Given the description of an element on the screen output the (x, y) to click on. 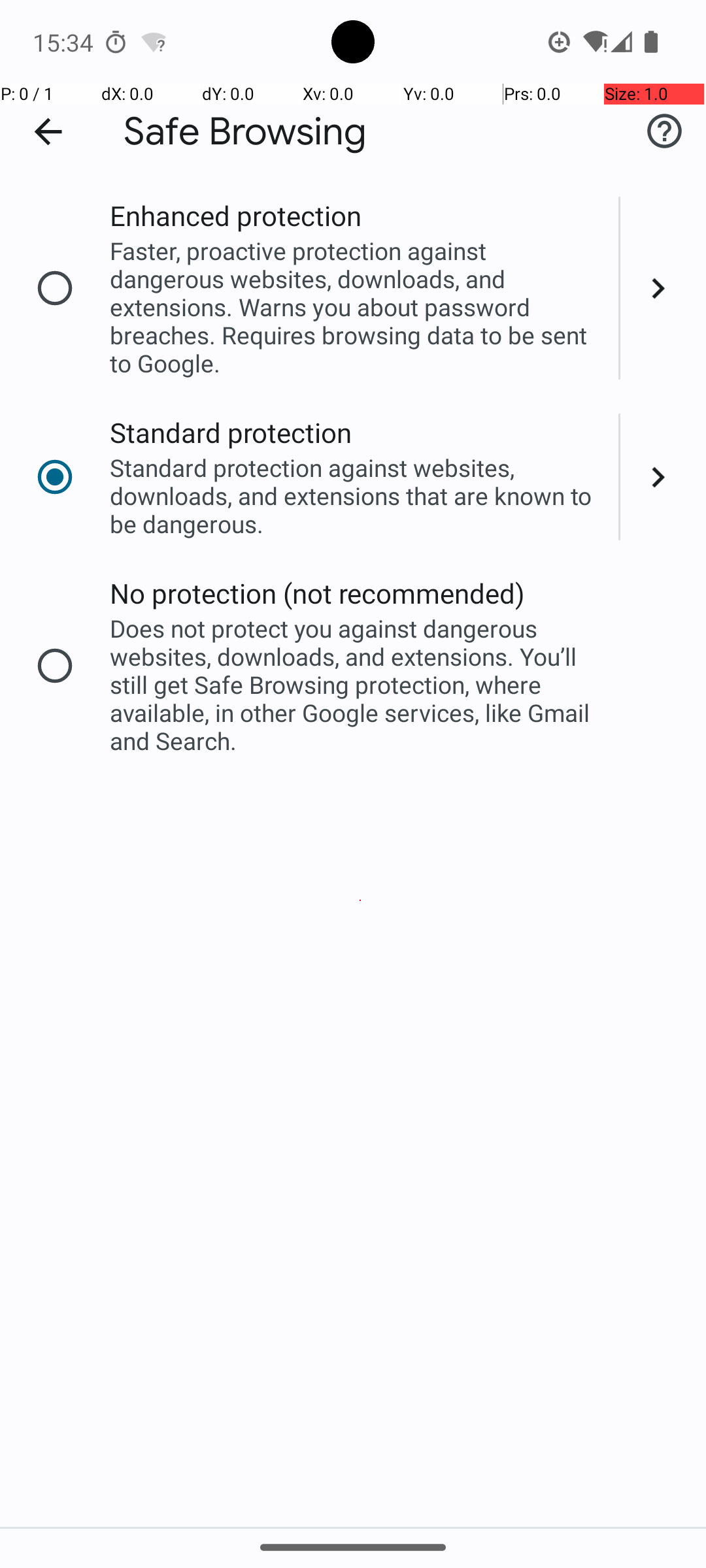
Enhanced protection Element type: android.widget.TextView (235, 214)
Faster, proactive protection against dangerous websites, downloads, and extensions. Warns you about password breaches. Requires browsing data to be sent to Google. Element type: android.widget.TextView (355, 306)
Standard protection Element type: android.widget.TextView (230, 431)
Standard protection against websites, downloads, and extensions that are known to be dangerous. Element type: android.widget.TextView (355, 495)
No protection (not recommended) Element type: android.widget.TextView (317, 592)
Does not protect you against dangerous websites, downloads, and extensions. You’ll still get Safe Browsing protection, where available, in other Google services, like Gmail and Search. Element type: android.widget.TextView (355, 684)
